Given the description of an element on the screen output the (x, y) to click on. 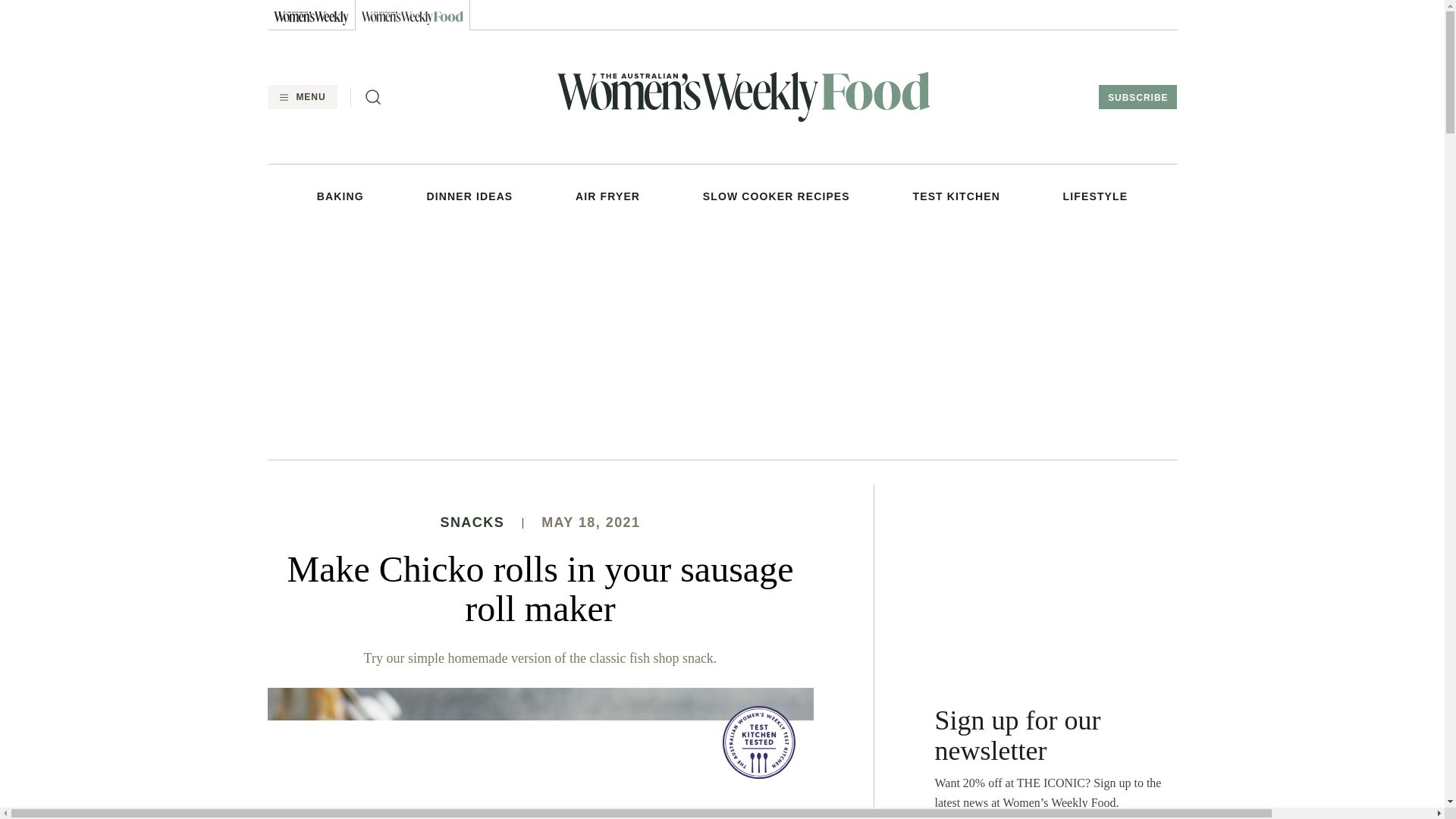
AIR FRYER (607, 196)
MENU (301, 96)
SLOW COOKER RECIPES (776, 196)
LIFESTYLE (1095, 196)
DINNER IDEAS (469, 196)
BAKING (340, 196)
TEST KITCHEN (956, 196)
SUBSCRIBE (1137, 96)
